Given the description of an element on the screen output the (x, y) to click on. 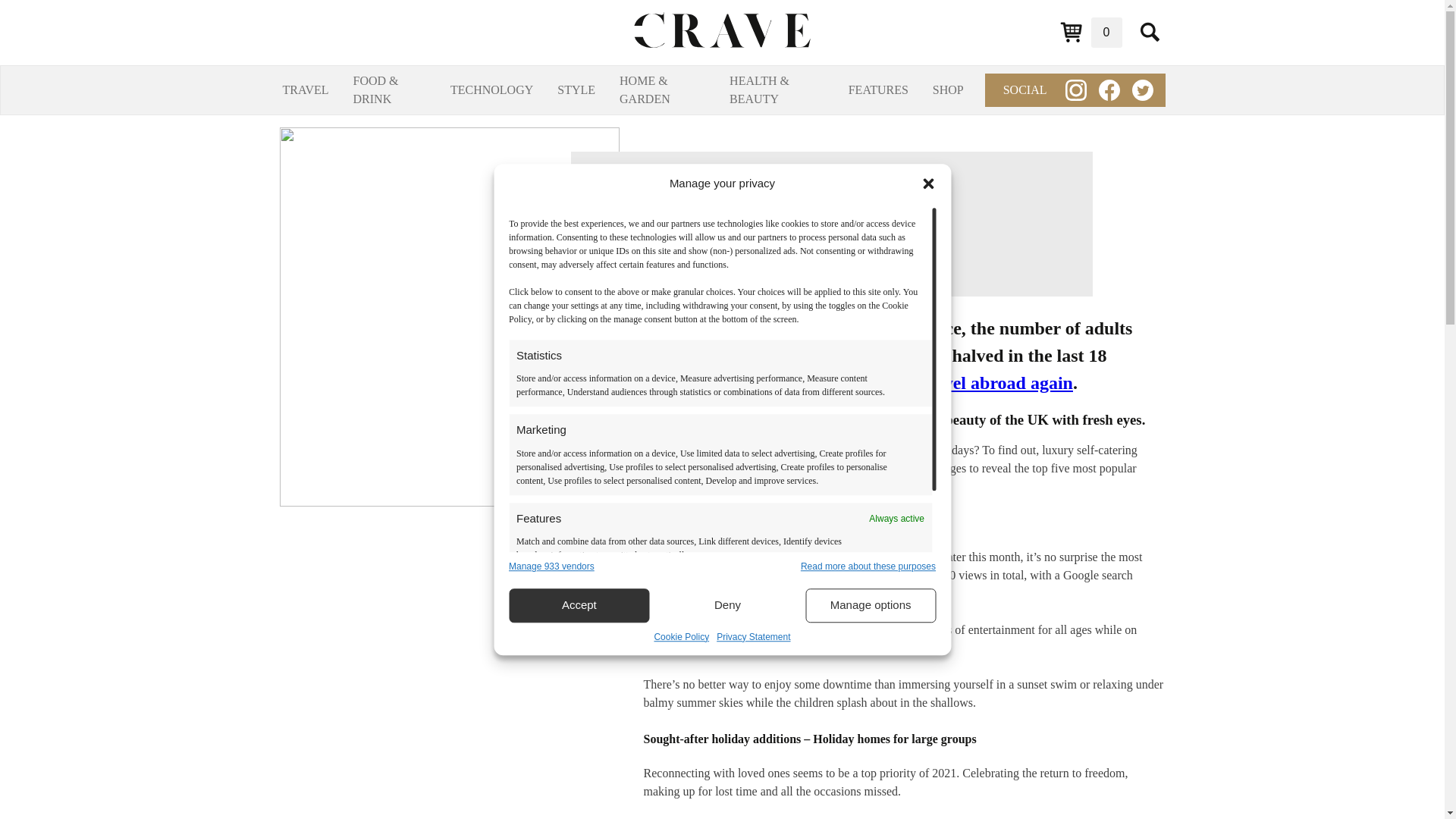
0 (1090, 32)
never to travel abroad again (963, 383)
Deny (727, 605)
Read more about these purposes (868, 566)
Privacy Statement (753, 636)
STYLE (576, 89)
Accept (578, 605)
Manage 933 vendors (551, 566)
Perfect Stays (767, 468)
heatwave is due to return (879, 556)
